Given the description of an element on the screen output the (x, y) to click on. 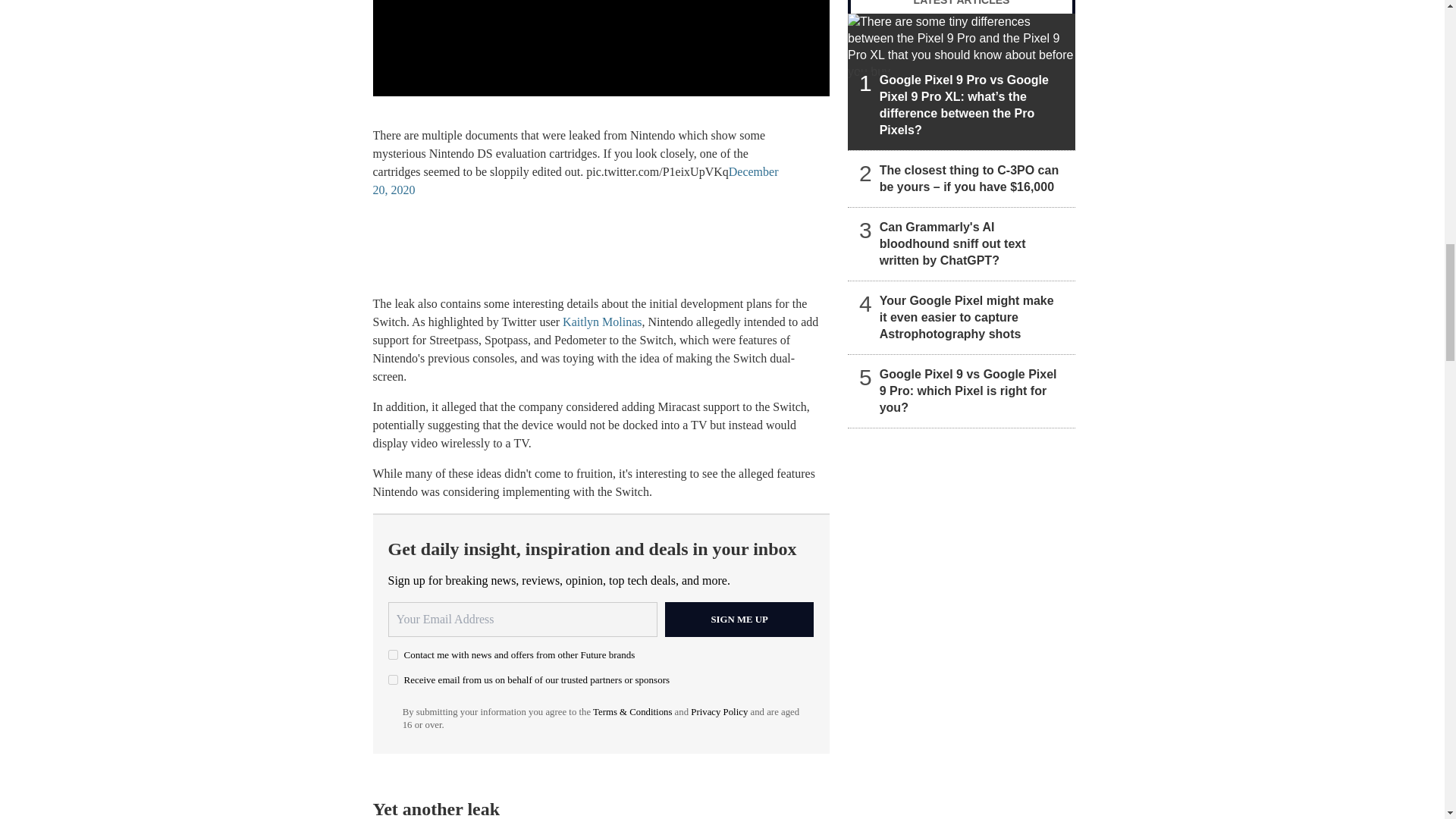
Sign me up (739, 619)
on (392, 679)
on (392, 655)
